Given the description of an element on the screen output the (x, y) to click on. 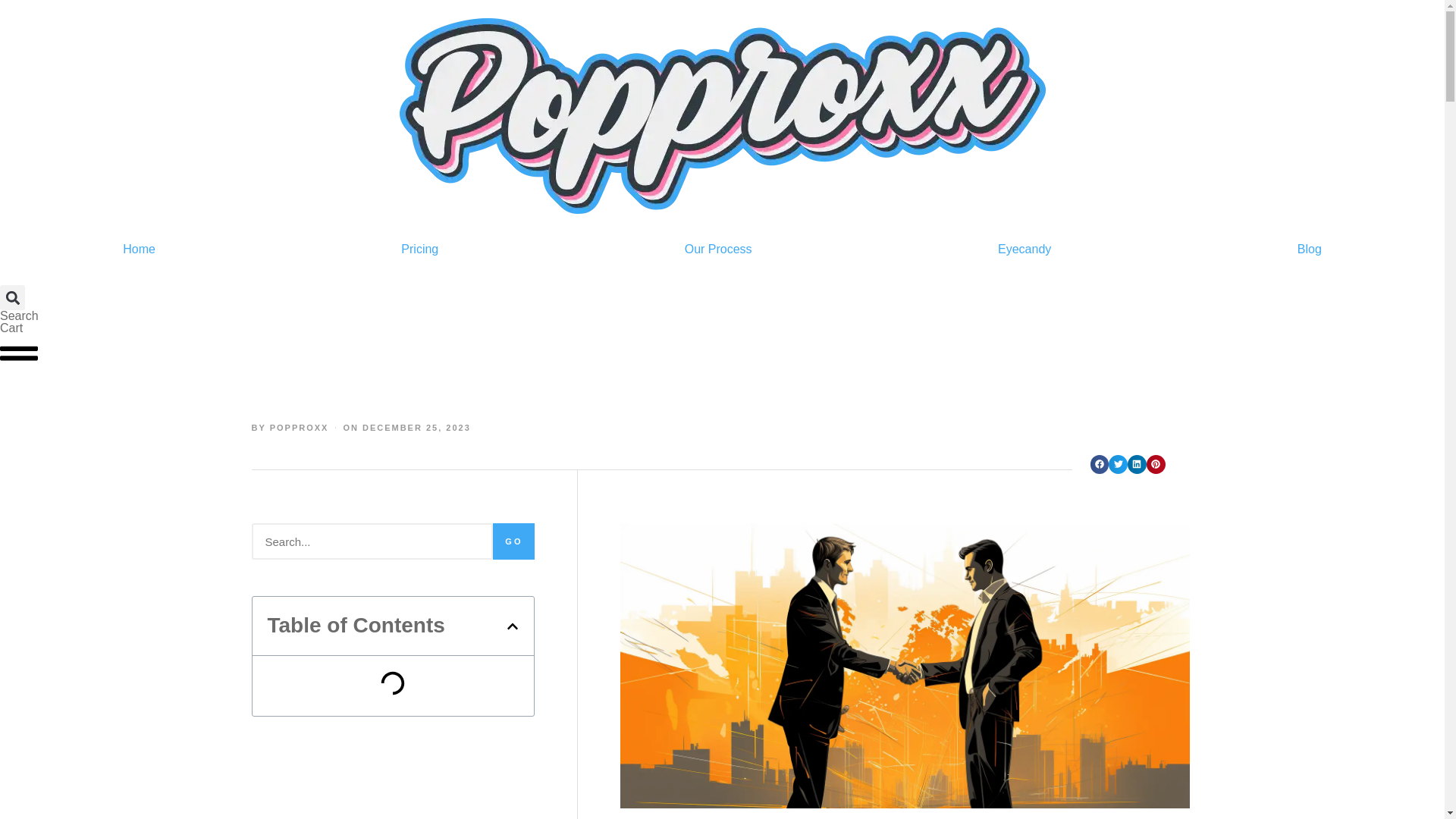
ON DECEMBER 25, 2023 (406, 427)
GO (513, 541)
Eyecandy (1024, 248)
Home (139, 248)
BY POPPROXX (290, 427)
Pricing (419, 248)
Our Process (717, 248)
